Given the description of an element on the screen output the (x, y) to click on. 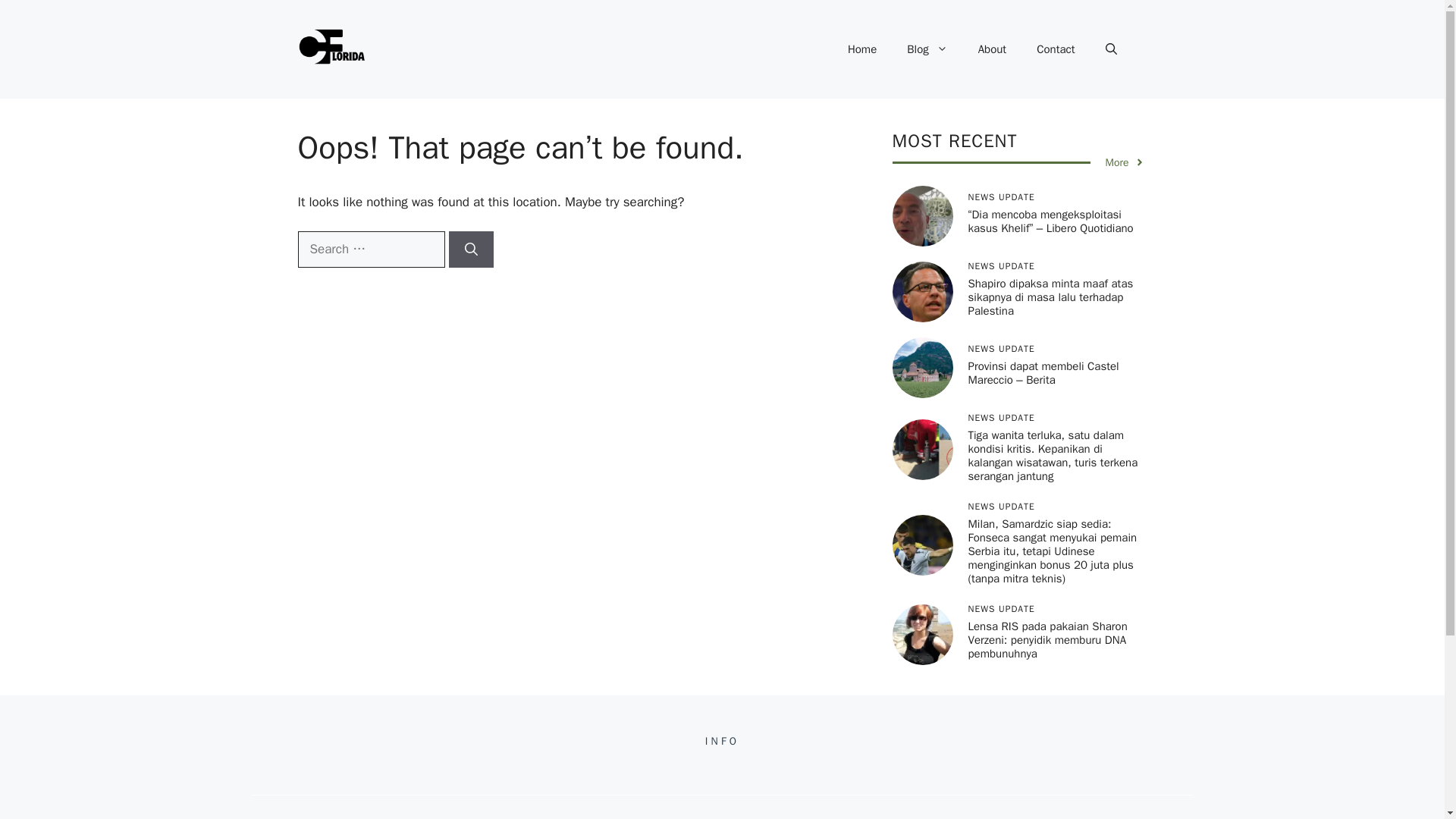
More (1124, 162)
Home (861, 49)
Search for: (370, 248)
About (992, 49)
Blog (926, 49)
Contact (1055, 49)
